Given the description of an element on the screen output the (x, y) to click on. 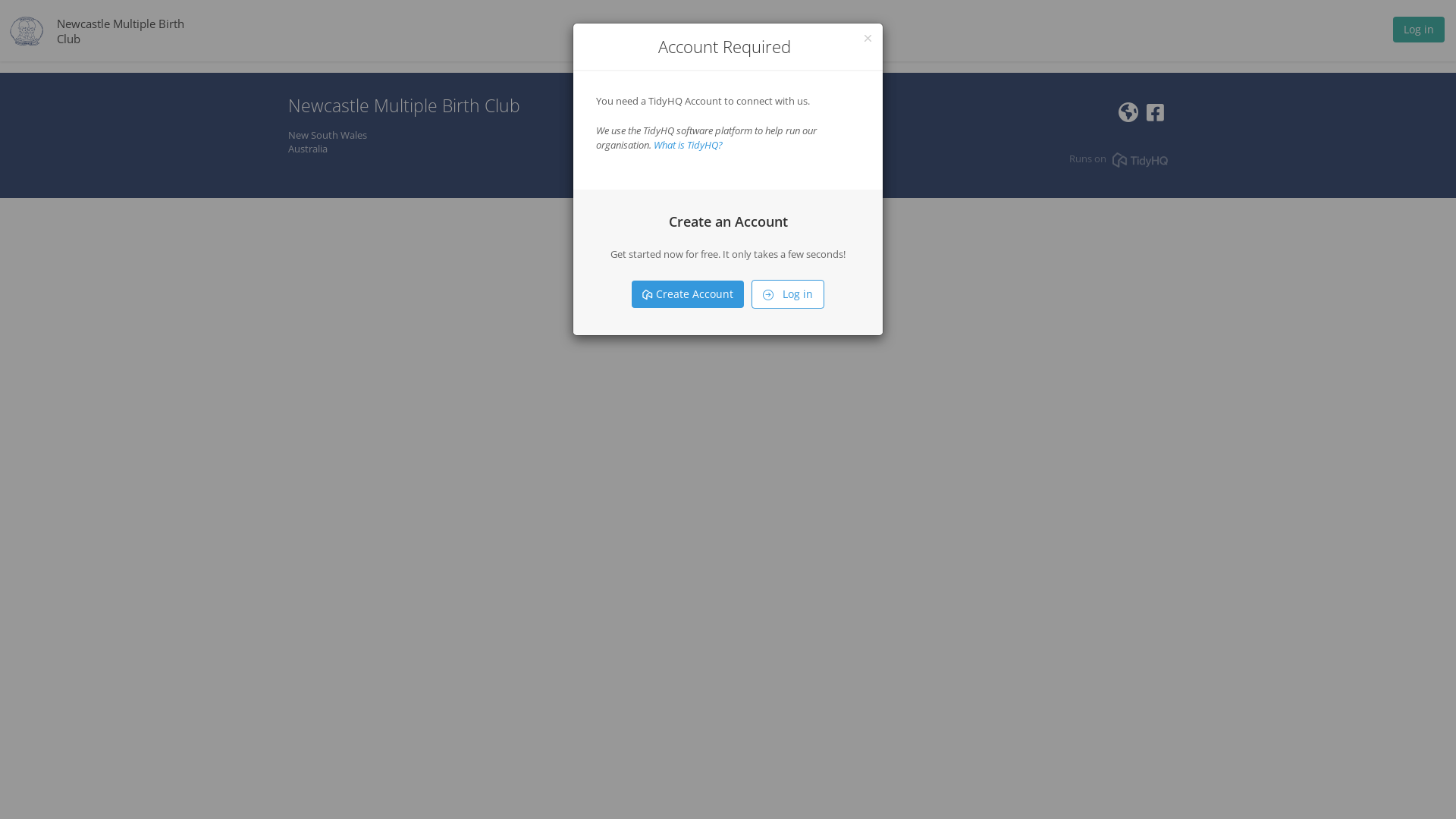
  Log in Element type: text (787, 293)
What is TidyHQ? Element type: text (687, 144)
Memberships Element type: text (723, 29)
https://www.newcastlembc.org.au/ Element type: hover (1128, 115)
Log in Element type: text (1418, 32)
Newcastle Multiple Birth Club Element type: text (120, 30)
Create Account Element type: text (687, 293)
151186208225140 Element type: hover (1155, 115)
